Given the description of an element on the screen output the (x, y) to click on. 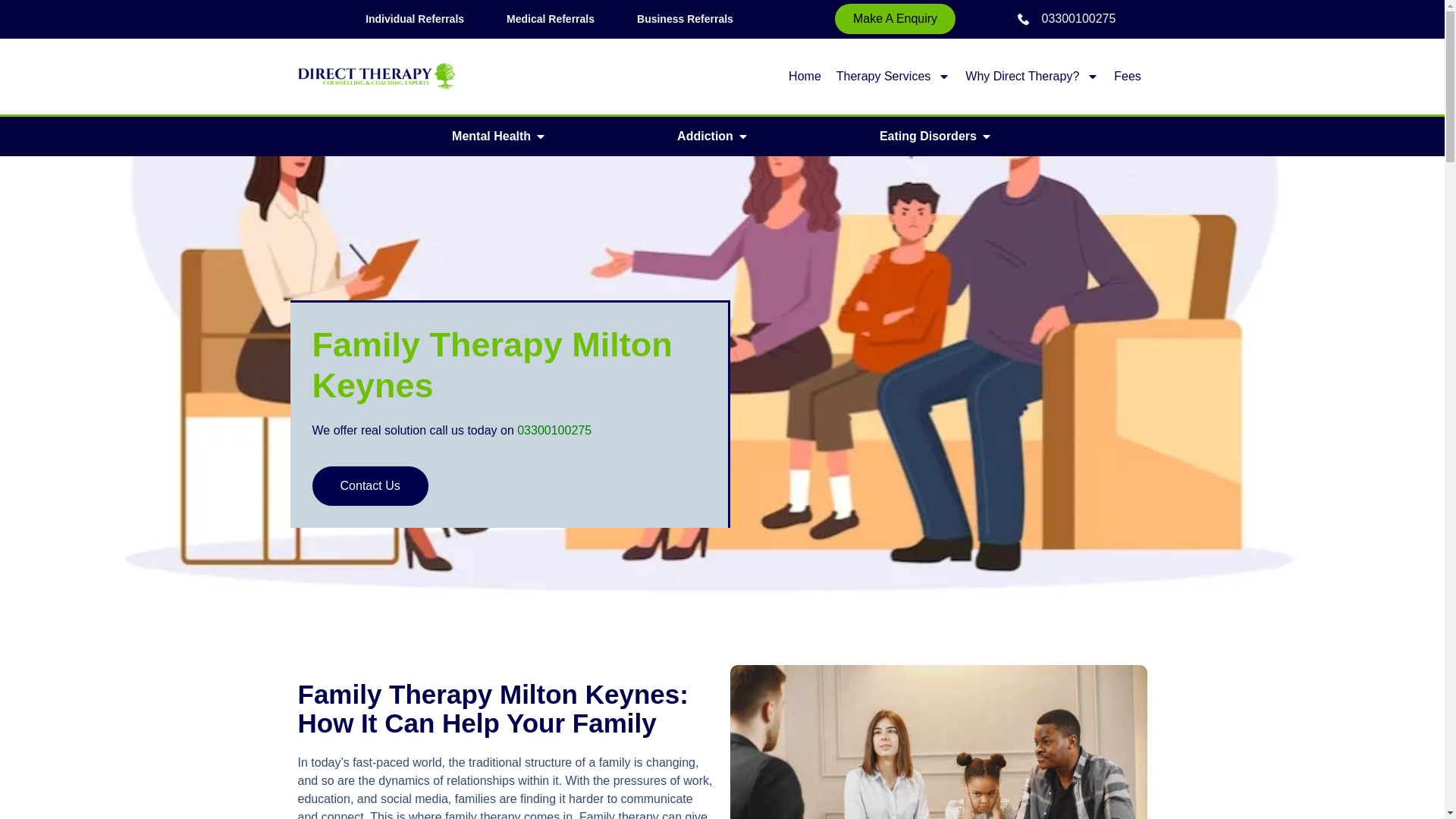
Business Referrals (684, 19)
Home (805, 76)
Medical Referrals (551, 19)
Therapy Services (892, 76)
Individual Referrals (414, 19)
Why Direct Therapy? (1032, 76)
Fees (1127, 76)
03300100275 (1066, 18)
Make A Enquiry (894, 19)
